Given the description of an element on the screen output the (x, y) to click on. 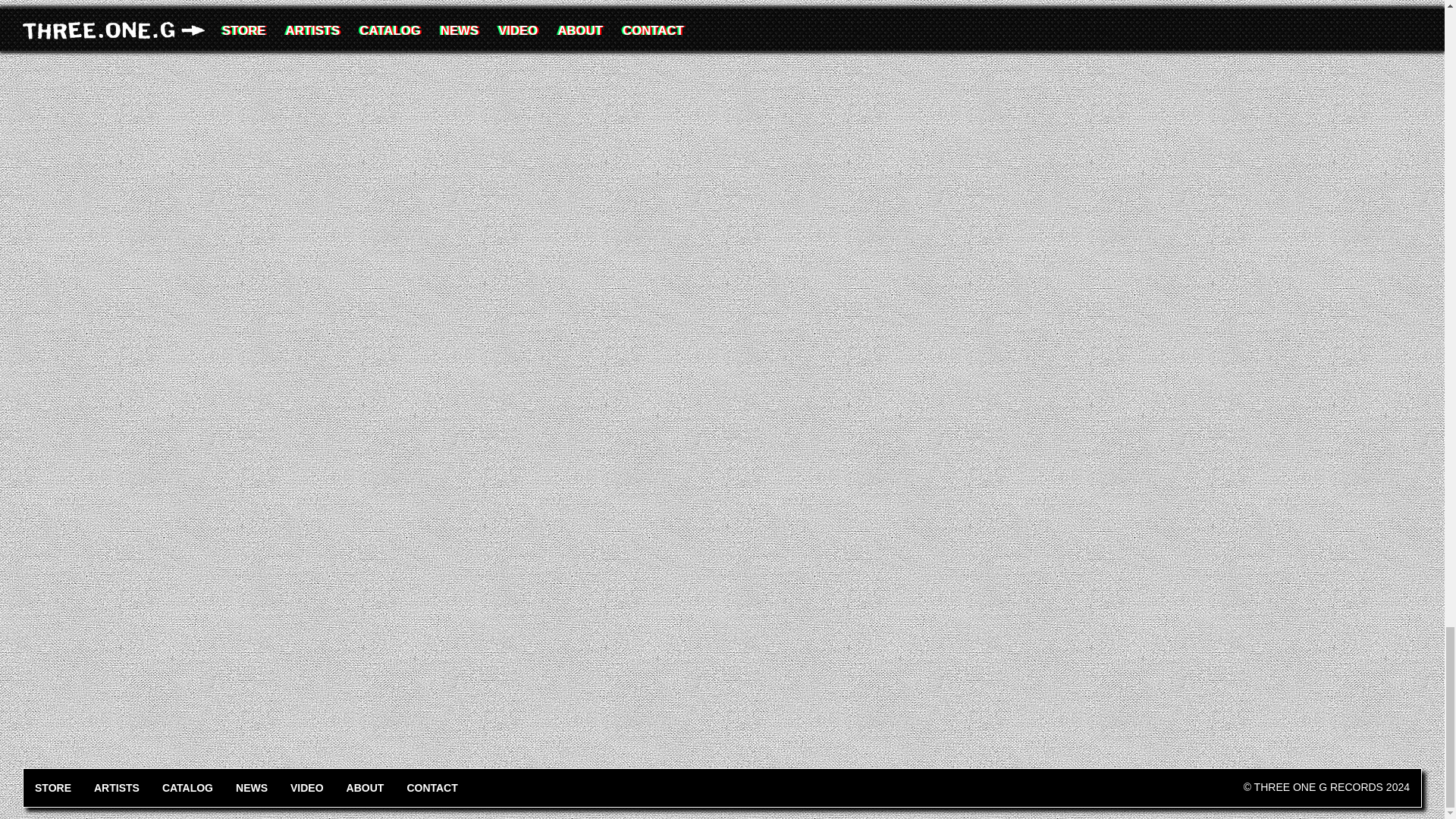
CATALOG (187, 787)
STORE (52, 787)
ABOUT (365, 787)
CONTACT (431, 787)
VIDEO (306, 787)
NEWS (251, 787)
ARTISTS (116, 787)
